Given the description of an element on the screen output the (x, y) to click on. 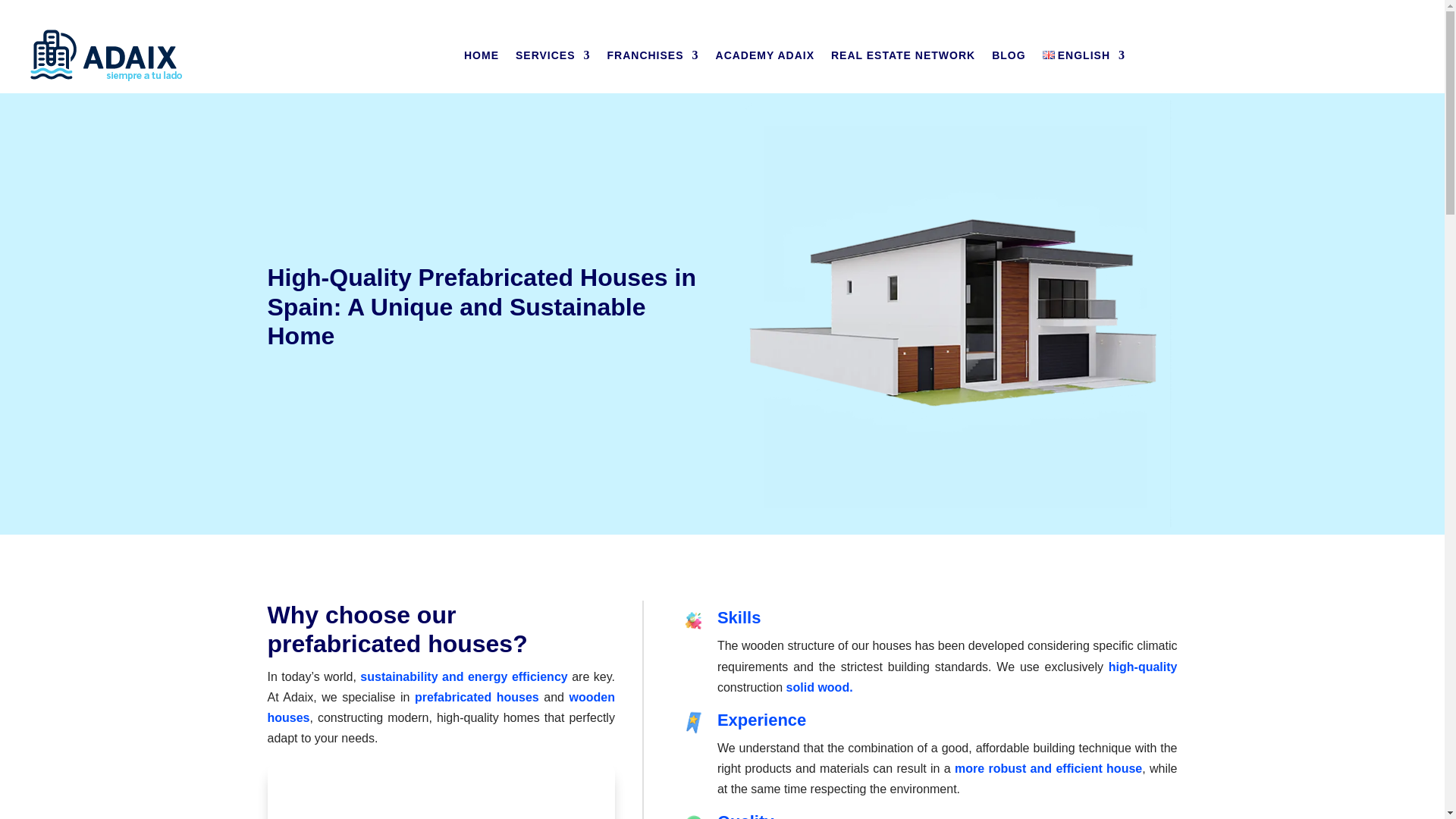
High-Quality Prefabricated Houses in Spain 2 (693, 722)
High-Quality Prefabricated Houses in Spain 1 (693, 619)
ENGLISH (1083, 54)
SERVICES (553, 54)
FRANCHISES (652, 54)
ACADEMY ADAIX (764, 54)
High-Quality Prefabricated Houses in Spain 3 (693, 816)
REAL ESTATE NETWORK (903, 54)
